Given the description of an element on the screen output the (x, y) to click on. 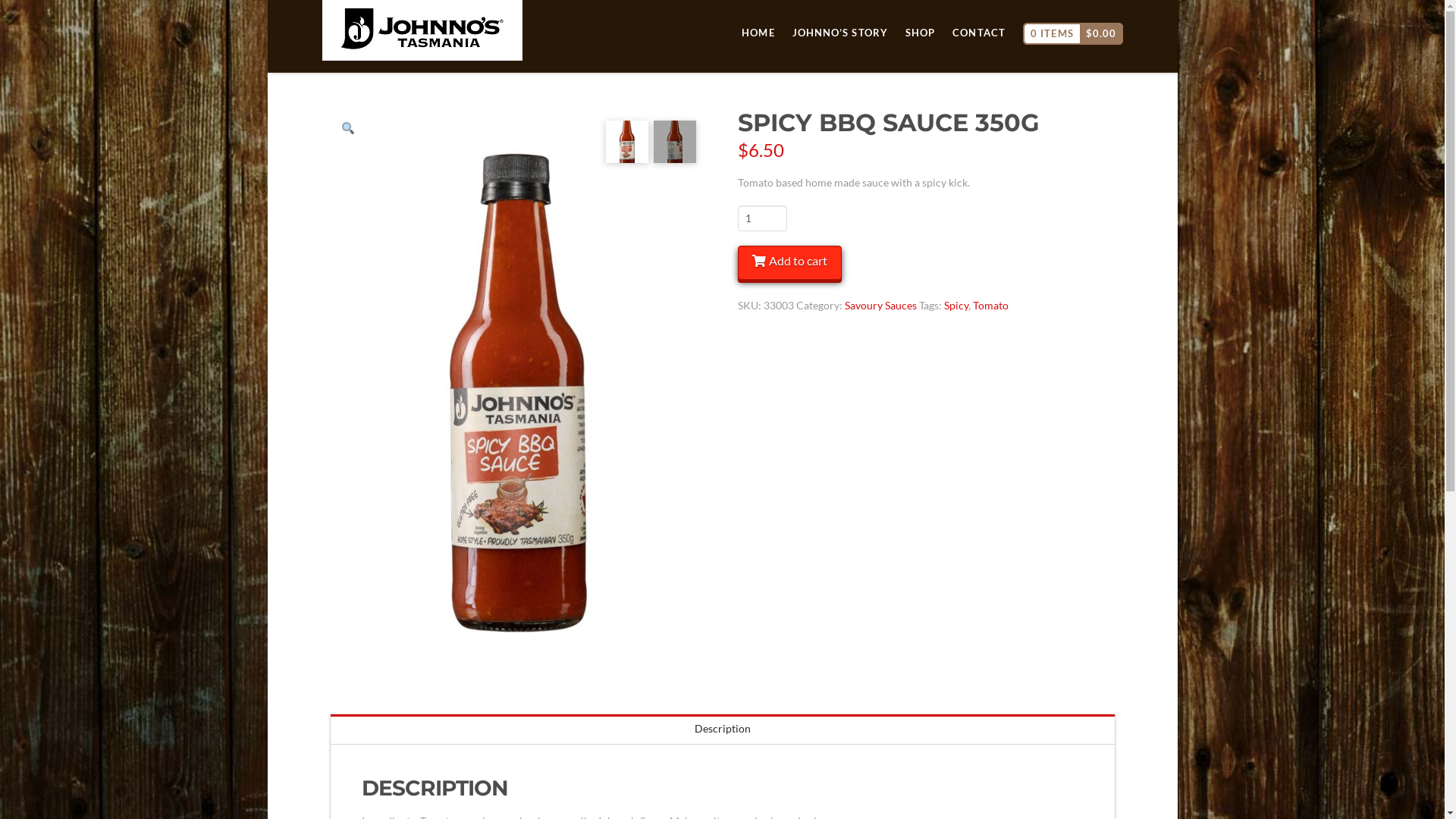
Qty Element type: hover (762, 218)
HOME Element type: text (757, 14)
Savoury Sauces Element type: text (880, 304)
Description Element type: text (722, 728)
Tomato Element type: text (990, 304)
CONTACT Element type: text (978, 14)
0 ITEMS
$0.00 Element type: text (1072, 11)
Spicy BBQ Sauce 350g Element type: hover (517, 392)
Spicy Element type: text (956, 304)
Add to cart Element type: text (789, 262)
SHOP Element type: text (919, 14)
